Given the description of an element on the screen output the (x, y) to click on. 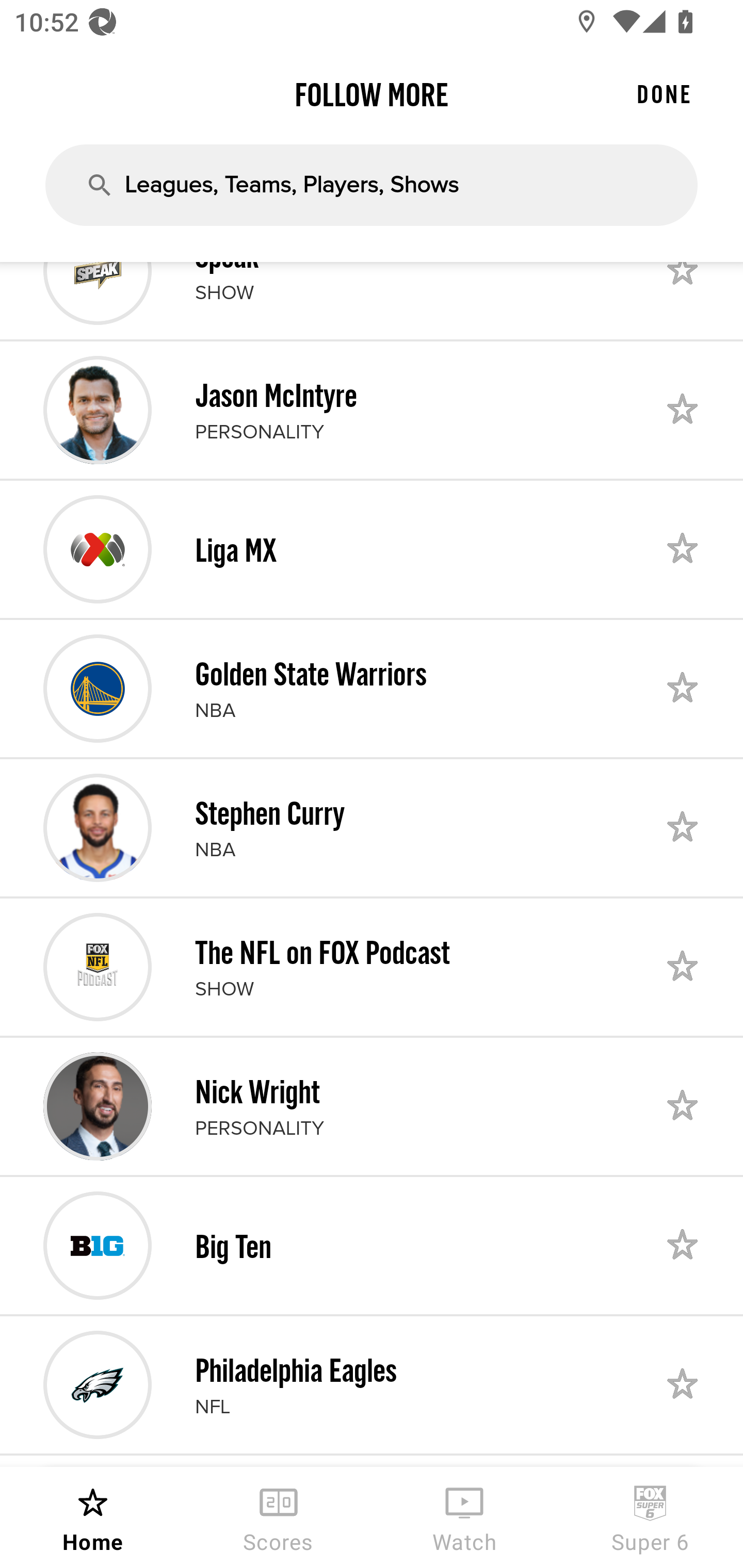
DONE (663, 93)
Leagues, Teams, Players, Shows (371, 184)
Jason McIntyre PERSONALITY (371, 409)
Liga MX (371, 549)
Golden State Warriors NBA (371, 688)
Stephen Curry NBA (371, 827)
The NFL on FOX Podcast SHOW (371, 967)
Nick Wright PERSONALITY (371, 1106)
Big Ten (371, 1245)
Philadelphia Eagles NFL (371, 1384)
Scores (278, 1517)
Watch (464, 1517)
Super 6 (650, 1517)
